Given the description of an element on the screen output the (x, y) to click on. 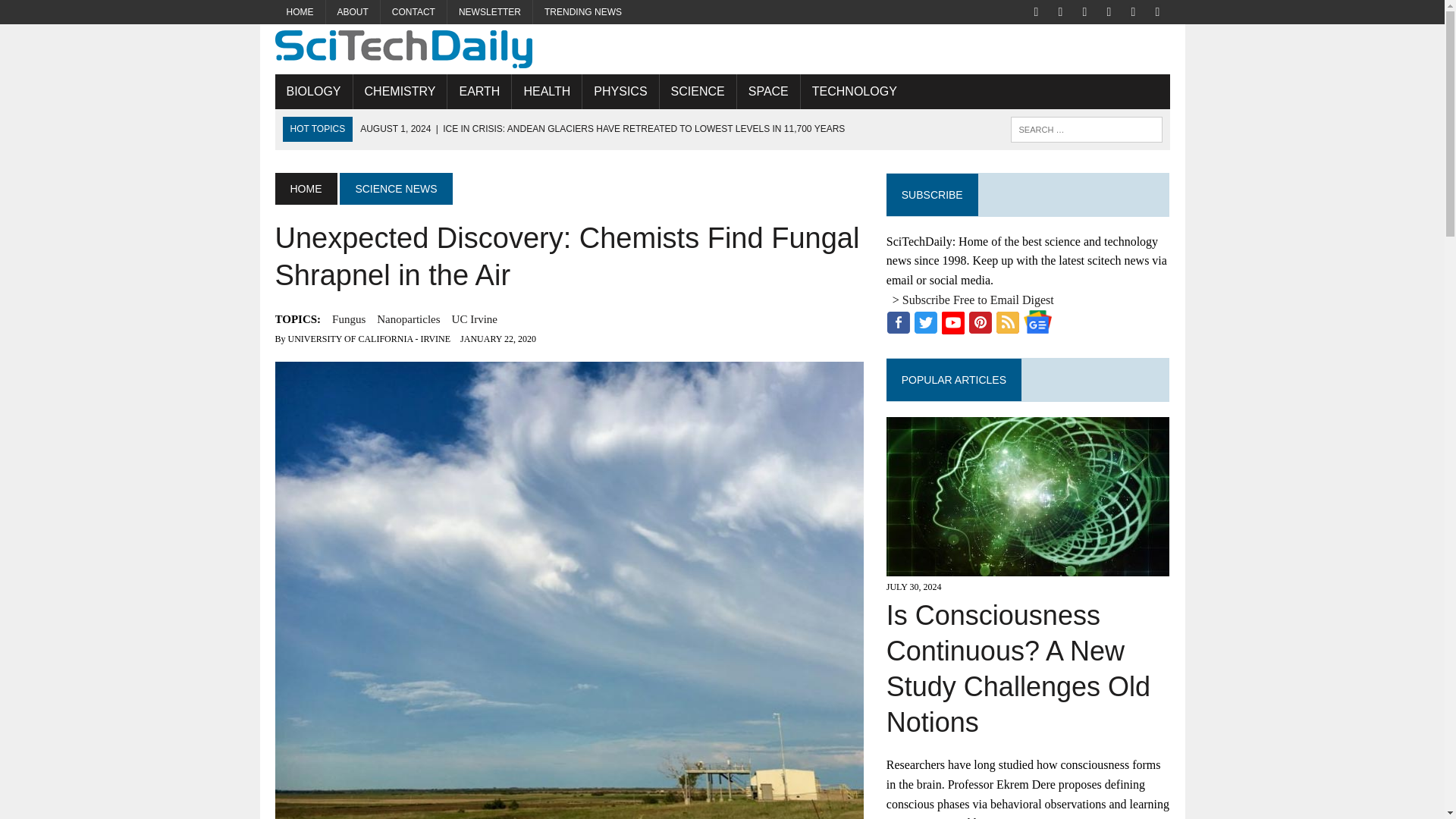
SciTechDaily Newsletter (489, 12)
EARTH (478, 91)
BIOLOGY (313, 91)
CONTACT (413, 12)
NEWSLETTER (489, 12)
SCIENCE (697, 91)
About SciTechDaily (353, 12)
SciTechDaily (722, 48)
Search (75, 14)
HOME (305, 188)
